Given the description of an element on the screen output the (x, y) to click on. 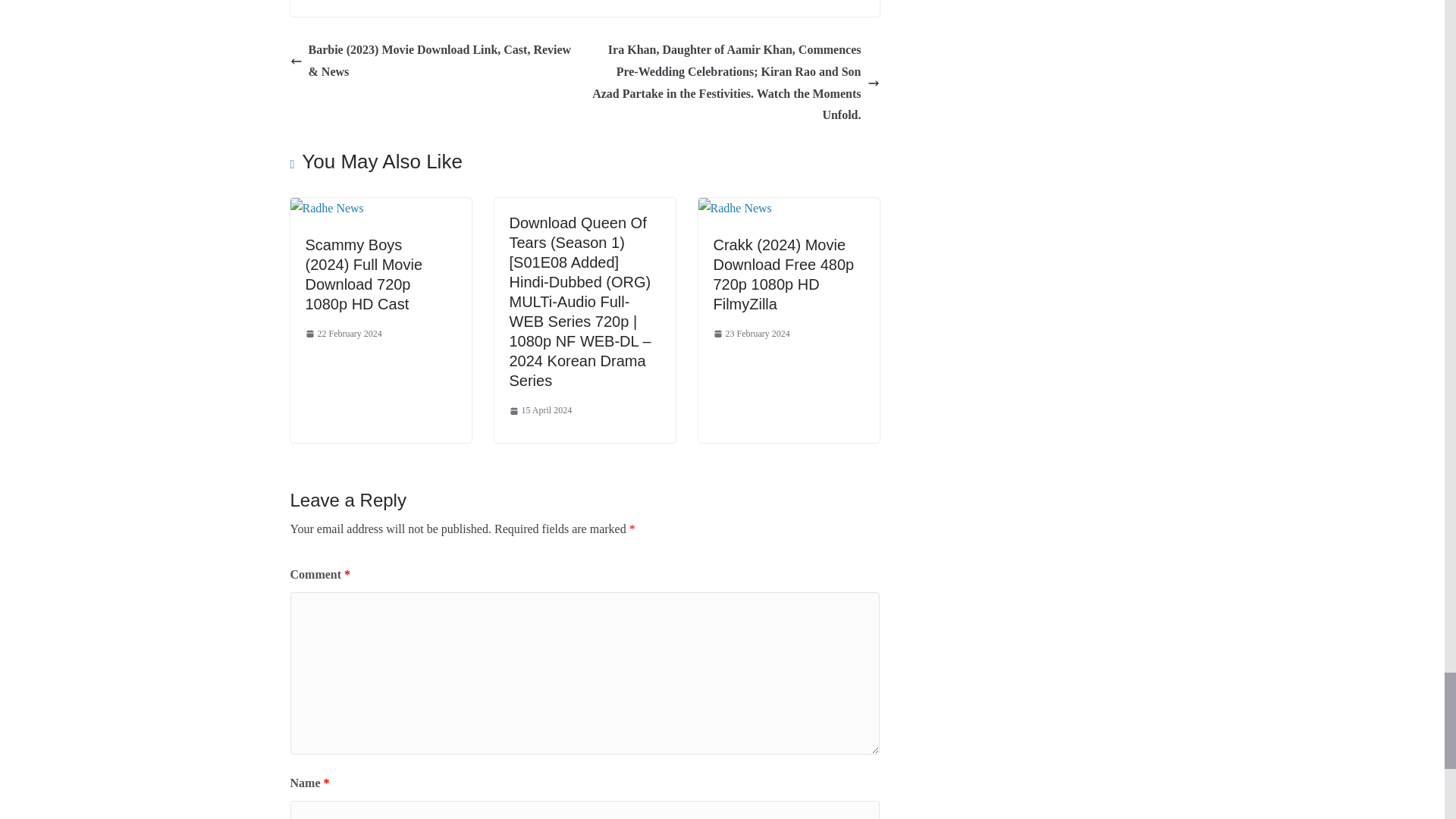
22 February 2024 (342, 334)
15 April 2024 (540, 410)
